Given the description of an element on the screen output the (x, y) to click on. 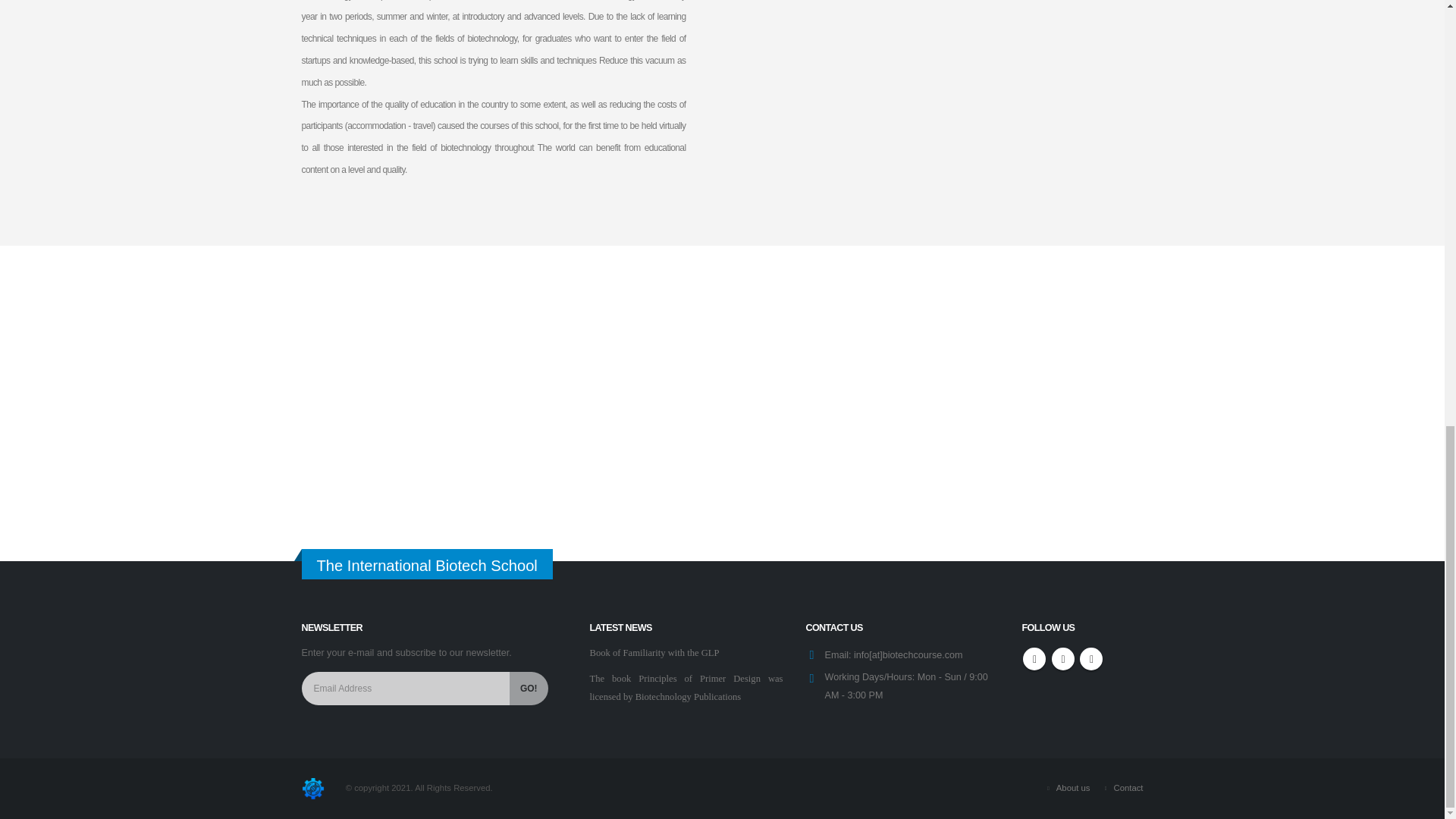
GO! (528, 688)
